Given the description of an element on the screen output the (x, y) to click on. 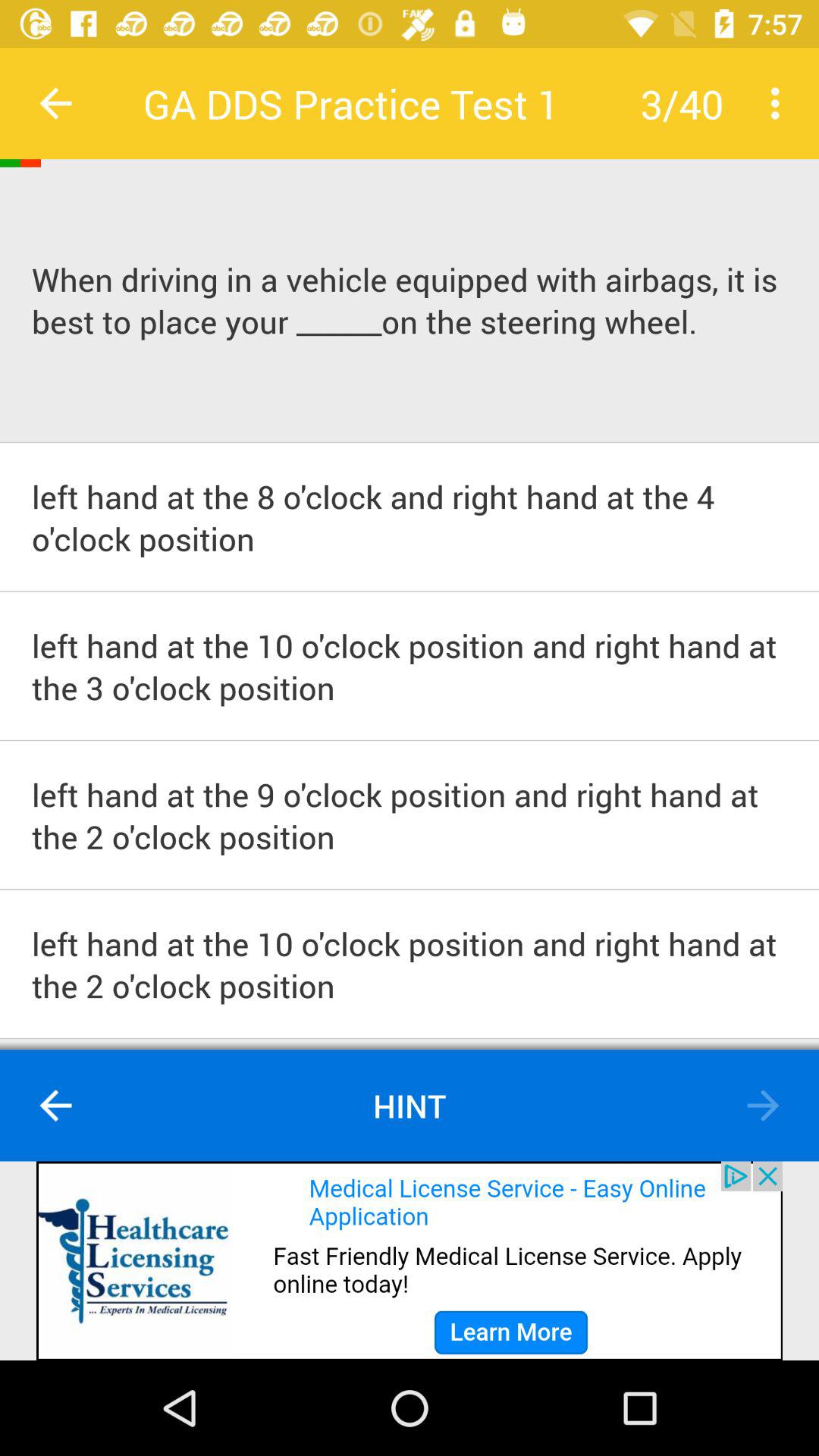
previous button (55, 103)
